Given the description of an element on the screen output the (x, y) to click on. 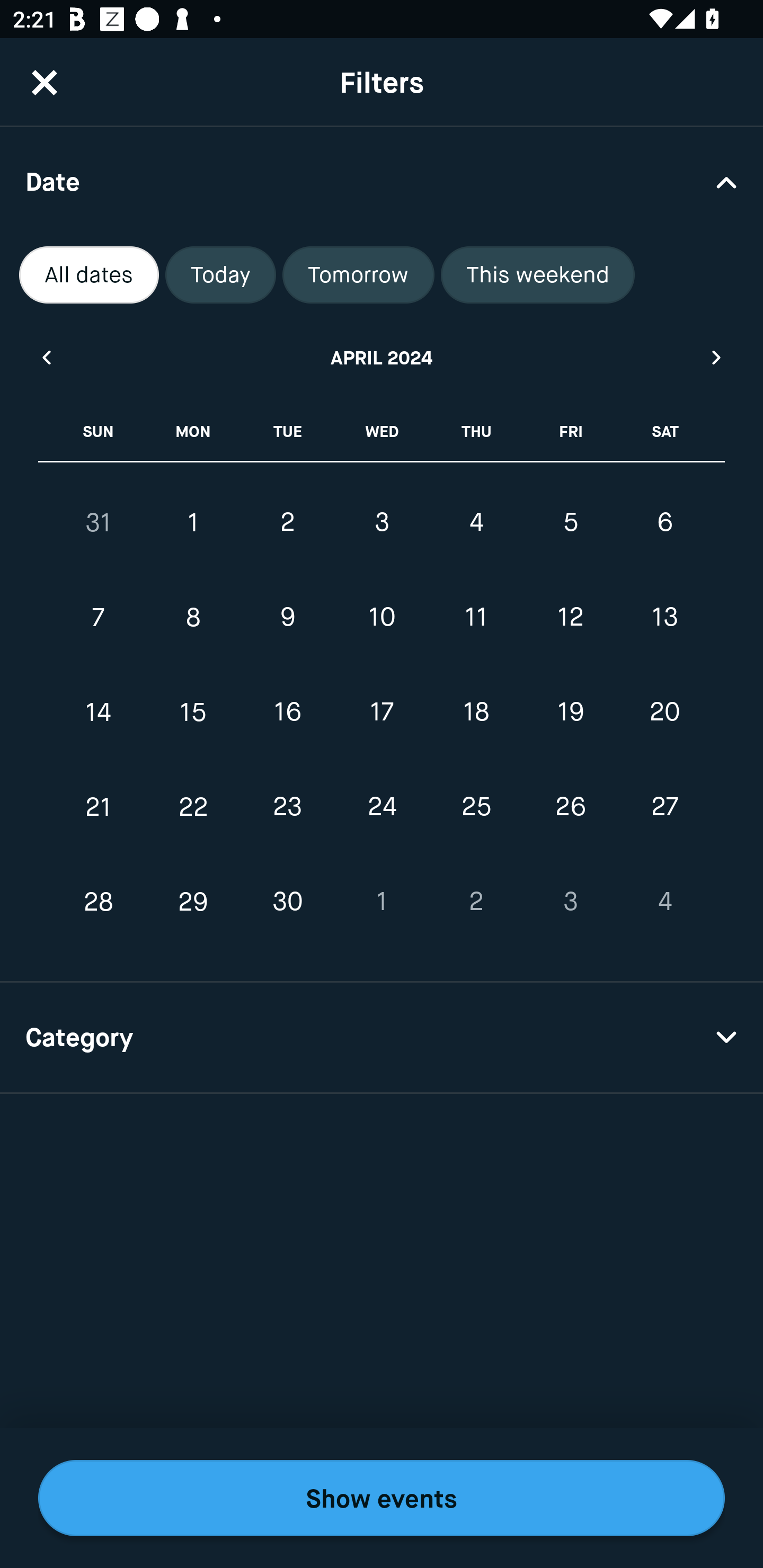
CloseButton (44, 82)
Date Drop Down Arrow (381, 181)
All dates (88, 274)
Today (220, 274)
Tomorrow (358, 274)
This weekend (537, 274)
Previous (45, 357)
Next (717, 357)
31 (98, 522)
1 (192, 522)
2 (287, 522)
3 (381, 522)
4 (475, 522)
5 (570, 522)
6 (664, 522)
7 (98, 617)
8 (192, 617)
9 (287, 617)
10 (381, 617)
11 (475, 617)
12 (570, 617)
13 (664, 617)
14 (98, 711)
15 (192, 711)
16 (287, 711)
17 (381, 711)
18 (475, 711)
19 (570, 711)
20 (664, 711)
21 (98, 806)
22 (192, 806)
23 (287, 806)
24 (381, 806)
25 (475, 806)
26 (570, 806)
27 (664, 806)
28 (98, 901)
29 (192, 901)
30 (287, 901)
1 (381, 901)
2 (475, 901)
3 (570, 901)
4 (664, 901)
Category Drop Down Arrow (381, 1038)
Show events (381, 1497)
